Given the description of an element on the screen output the (x, y) to click on. 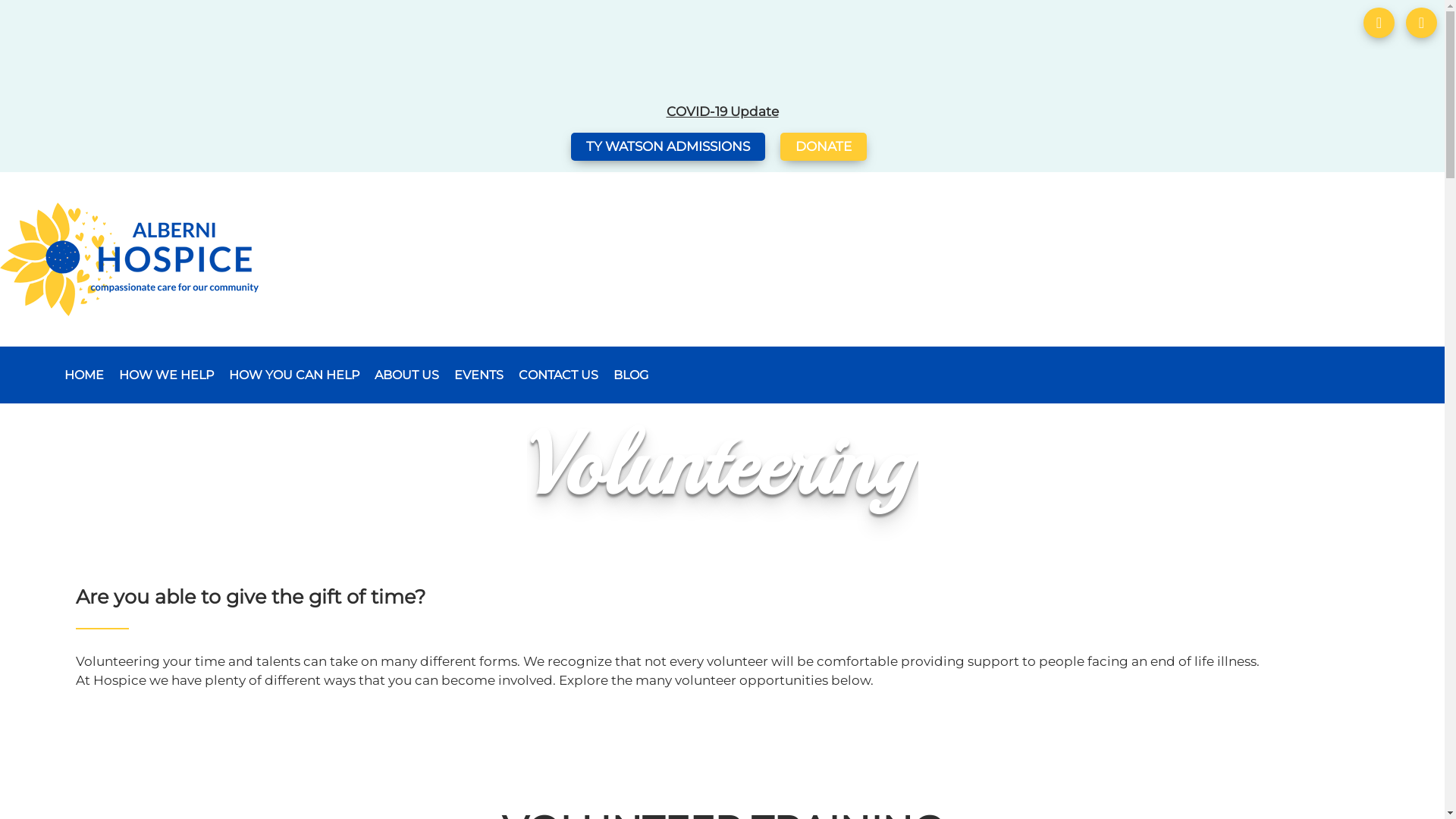
DONATE Element type: text (822, 146)
HOW YOU CAN HELP Element type: text (294, 374)
EVENTS Element type: text (478, 374)
COVID-19 Update Element type: text (721, 111)
HOW WE HELP Element type: text (166, 374)
BLOG Element type: text (630, 374)
ABOUT US Element type: text (406, 374)
HOME Element type: text (83, 374)
TY WATSON ADMISSIONS Element type: text (667, 146)
CONTACT US Element type: text (558, 374)
